Given the description of an element on the screen output the (x, y) to click on. 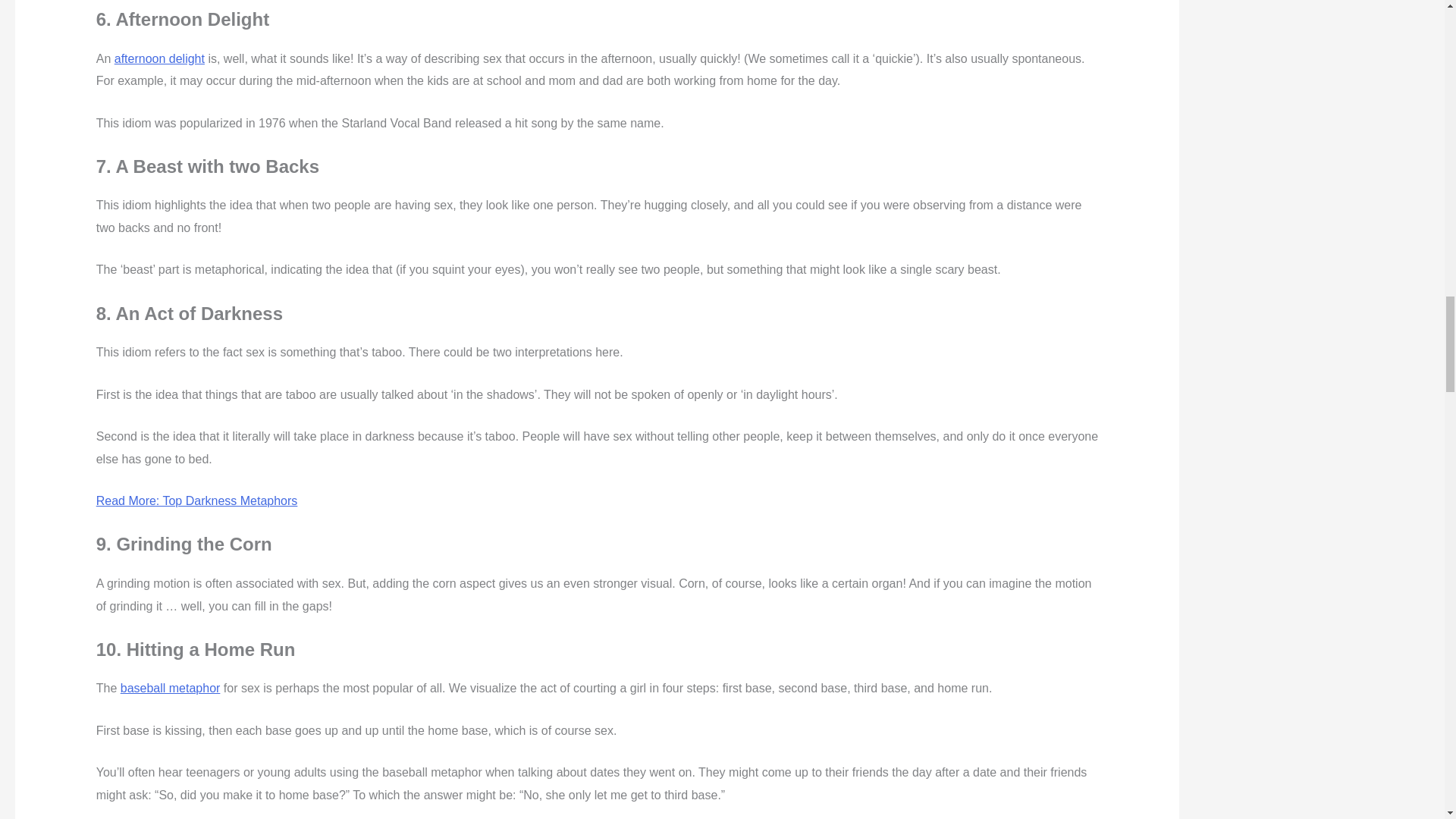
baseball metaphor (170, 687)
Read More: Top Darkness Metaphors (197, 500)
afternoon delight (160, 58)
